Given the description of an element on the screen output the (x, y) to click on. 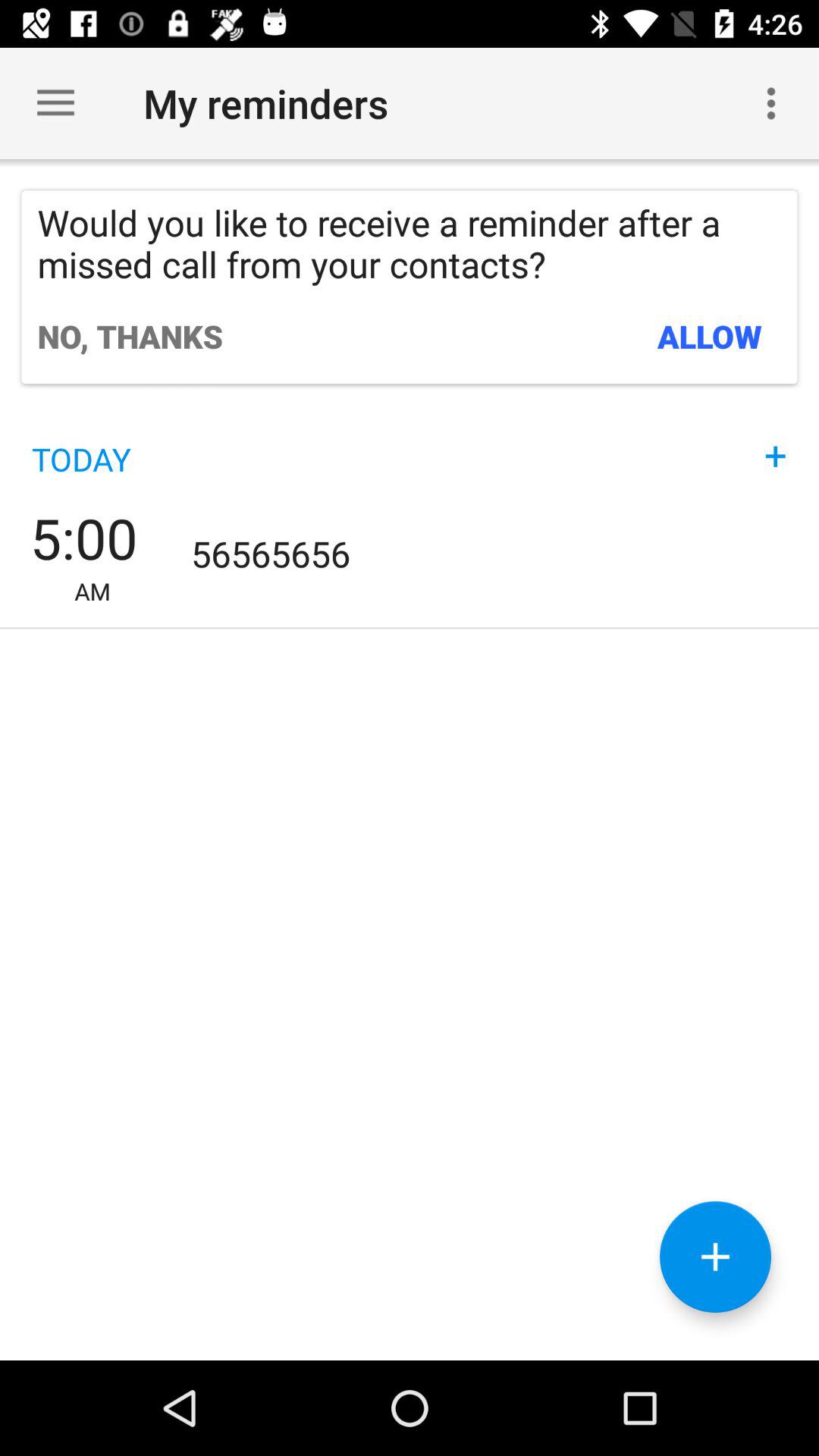
select item next to the my reminders (771, 103)
